Given the description of an element on the screen output the (x, y) to click on. 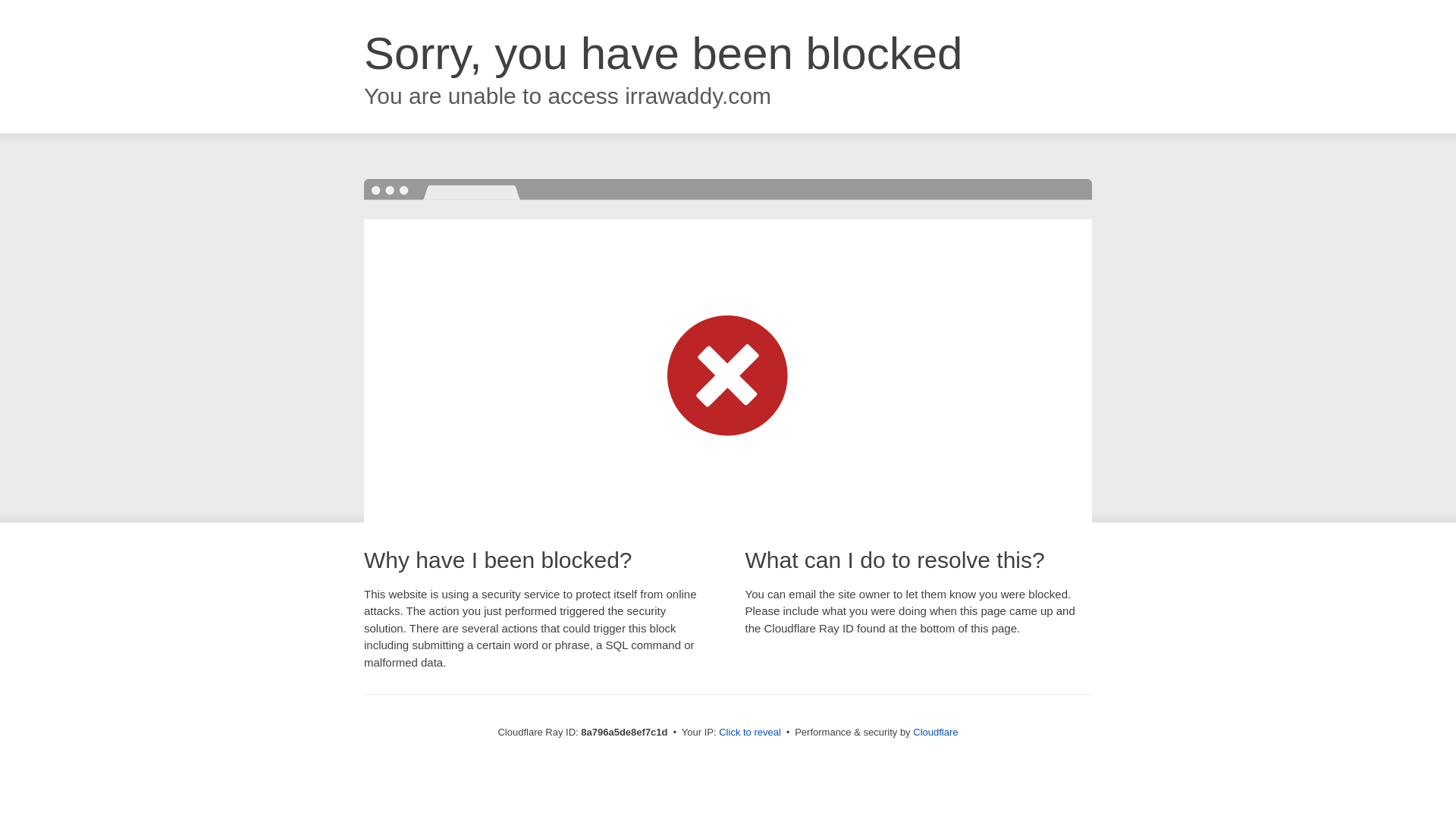
Click to reveal (749, 732)
Cloudflare (935, 731)
